Given the description of an element on the screen output the (x, y) to click on. 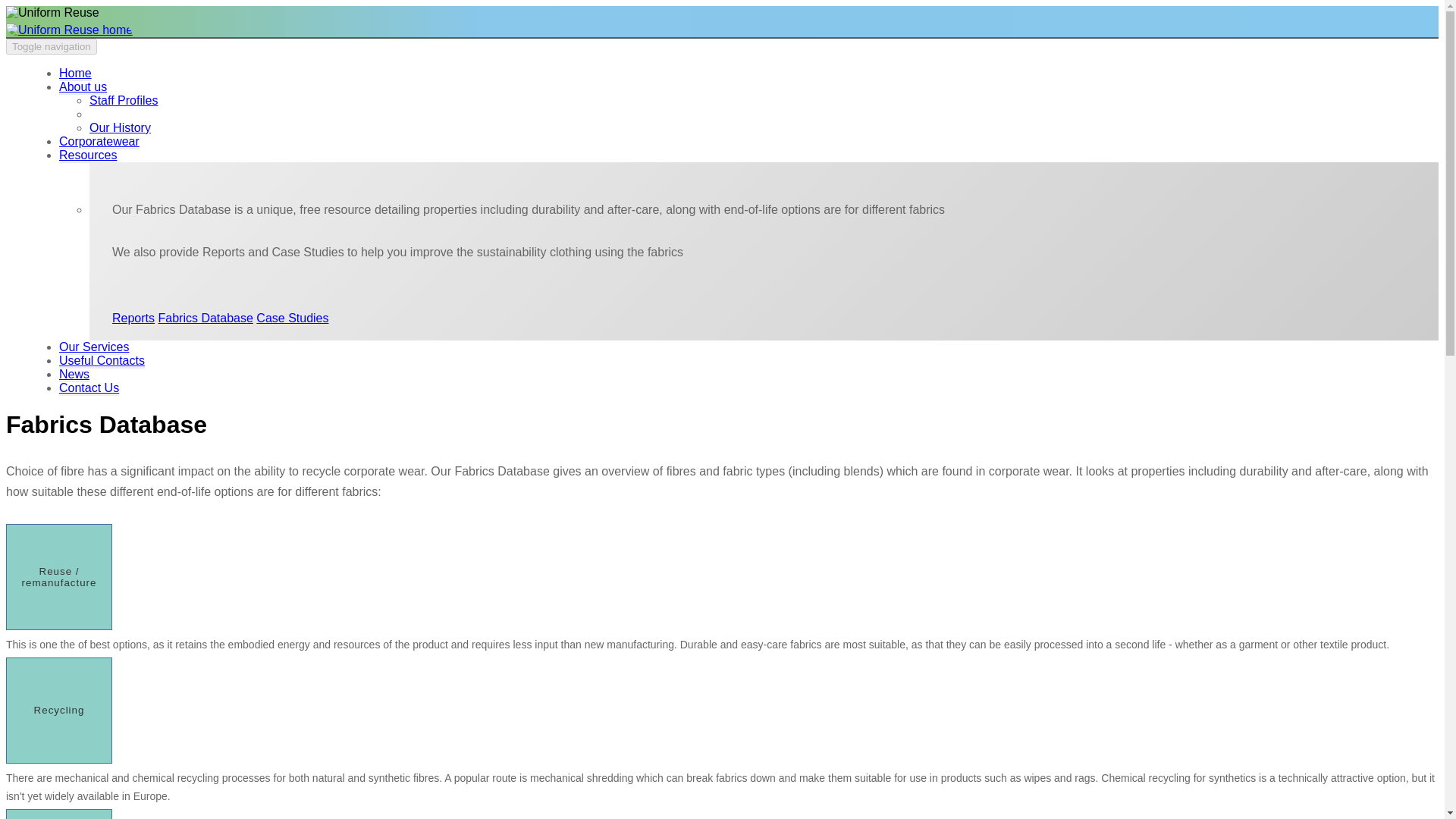
Our History (119, 127)
Case Studies (292, 318)
Our Services (94, 347)
News (73, 374)
Reports (133, 318)
Composting (58, 814)
Recycling (58, 710)
Home (75, 73)
Contact Us (89, 388)
Resources (87, 155)
Useful Contacts (101, 360)
Staff Profiles (122, 100)
Corporatewear (99, 142)
Toggle navigation (51, 46)
About us (82, 87)
